Given the description of an element on the screen output the (x, y) to click on. 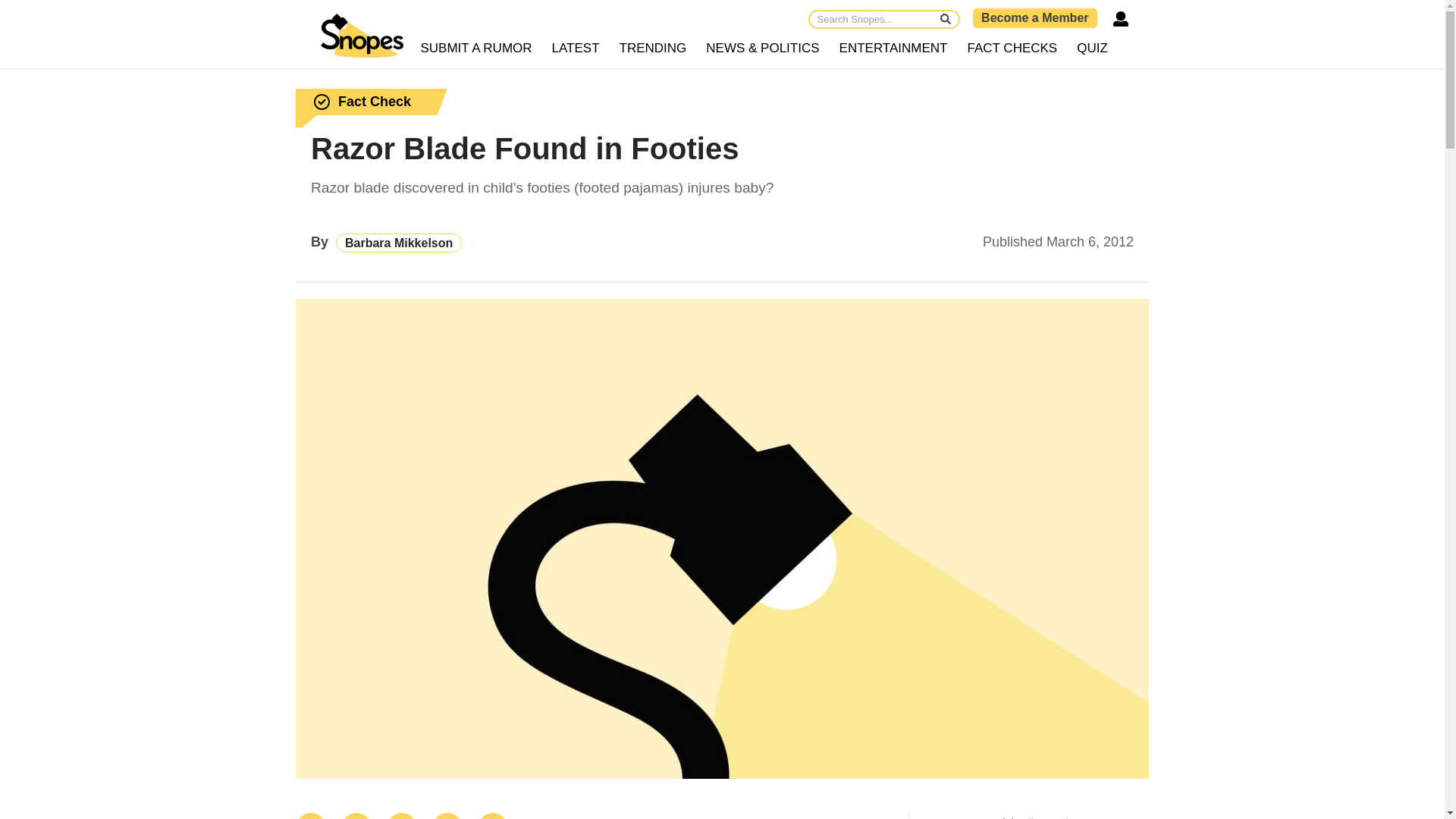
QUIZ (1092, 47)
ENTERTAINMENT (893, 47)
FACT CHECKS (1011, 47)
Barbara Mikkelson (398, 242)
SUBMIT A RUMOR (475, 47)
TRENDING (653, 47)
LATEST (576, 47)
Become a Member (1034, 17)
